Given the description of an element on the screen output the (x, y) to click on. 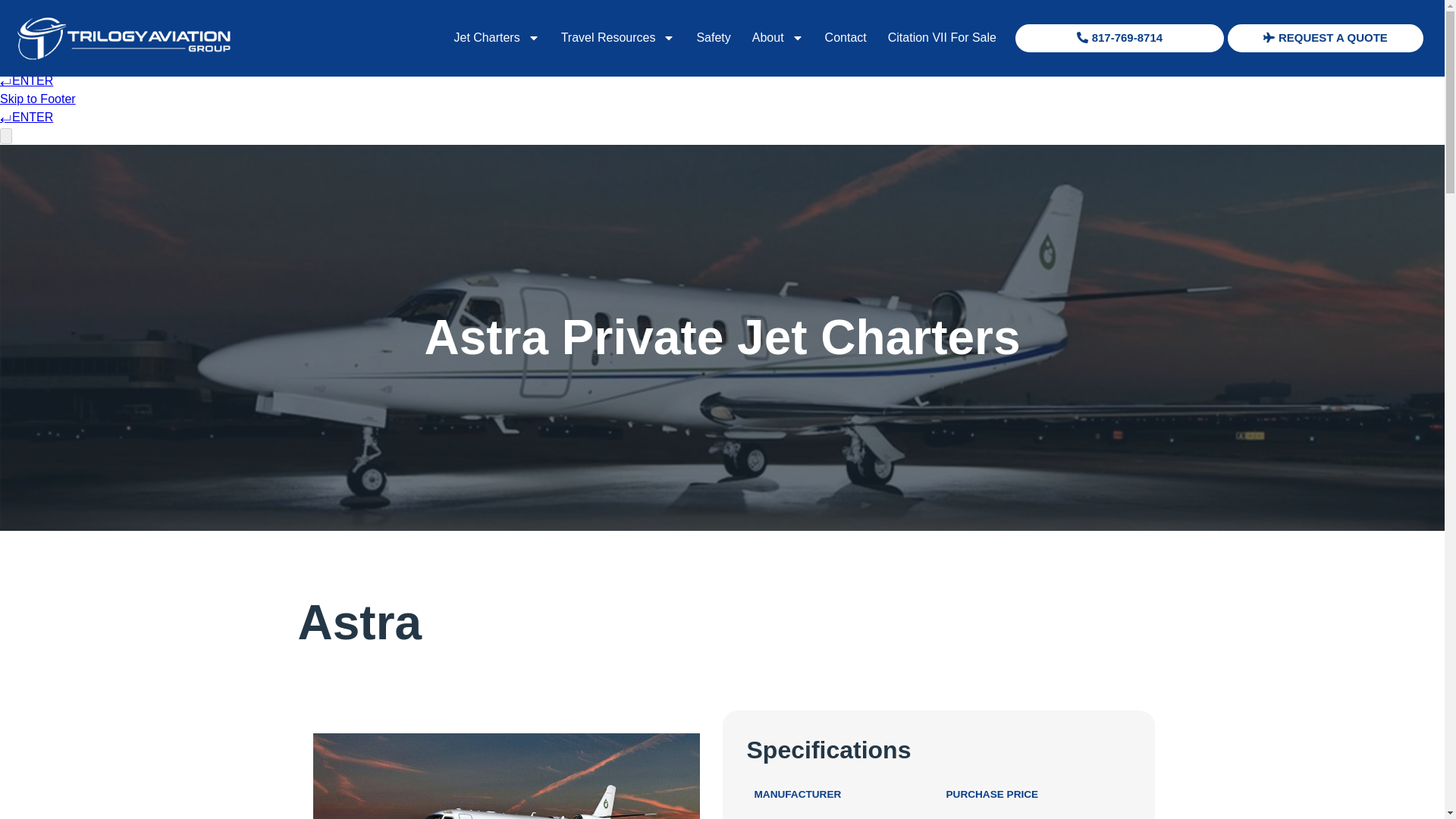
Private Charter Jets (497, 37)
Contact (845, 37)
Safety (713, 37)
Private Plane Charter Company Contact (845, 37)
Travel Resources (617, 37)
Citation VII For Sale (942, 37)
About (777, 37)
Jet Charters (497, 37)
